Given the description of an element on the screen output the (x, y) to click on. 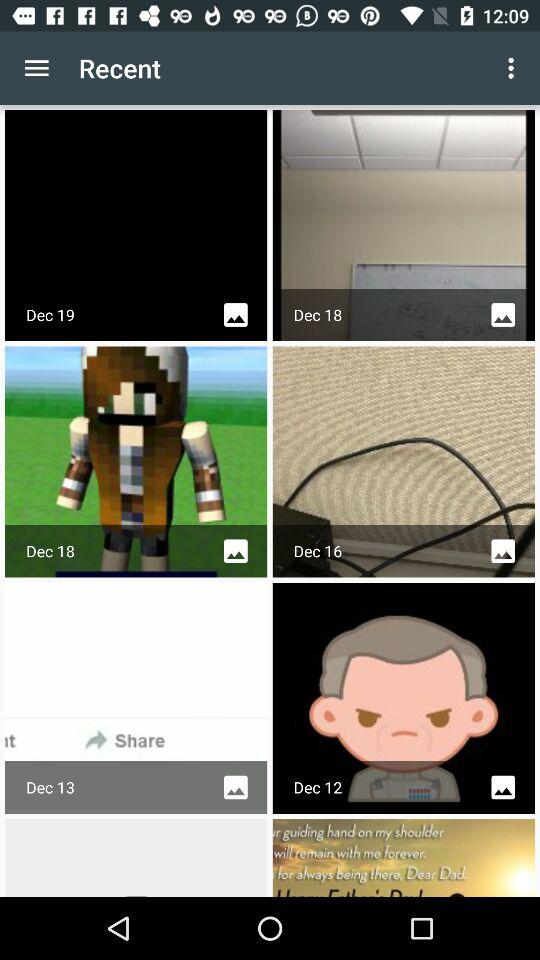
launch app next to the recent item (36, 68)
